Given the description of an element on the screen output the (x, y) to click on. 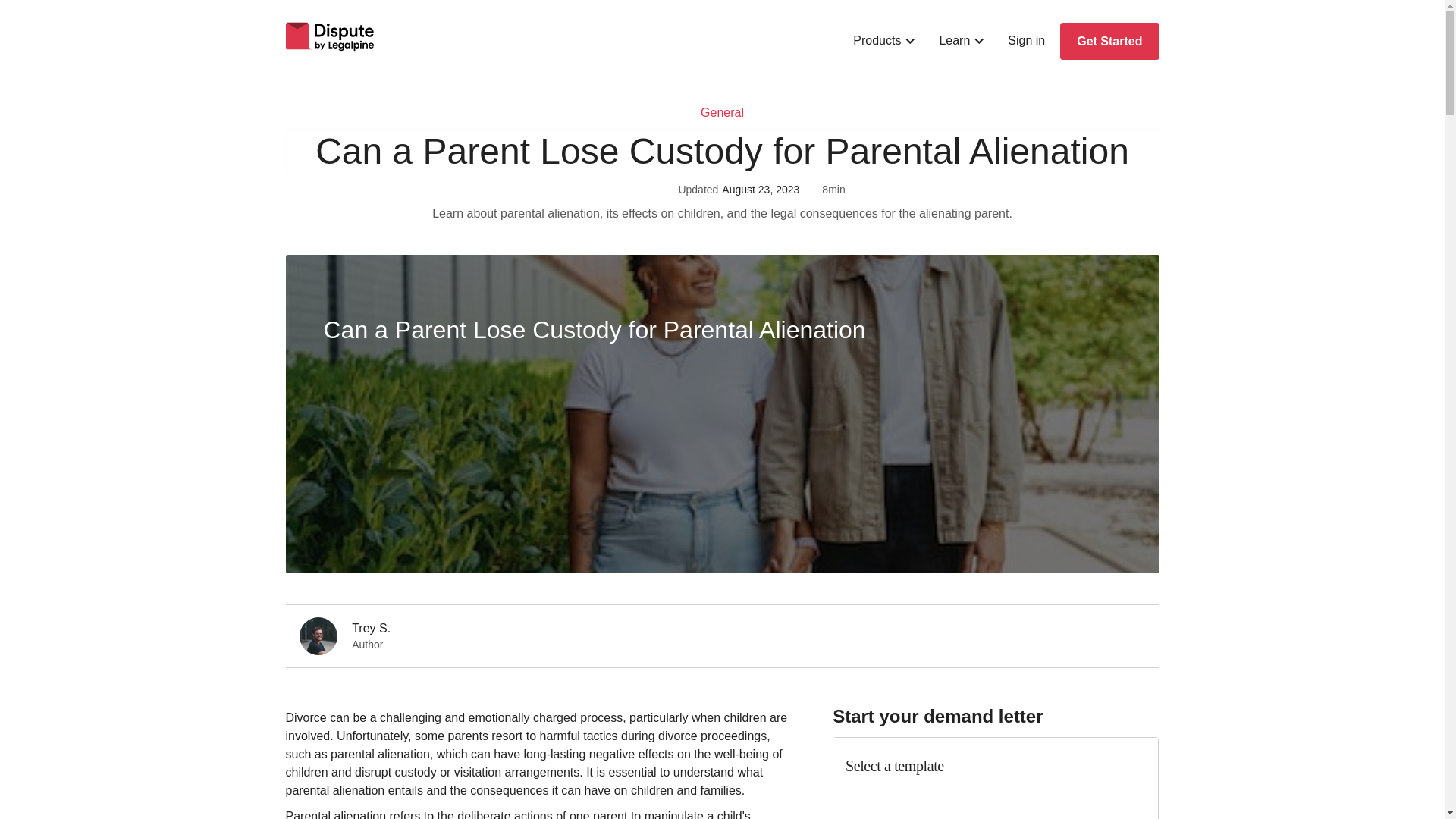
Sign in (1025, 40)
demand letter (994, 778)
Get Started (1108, 40)
